Given the description of an element on the screen output the (x, y) to click on. 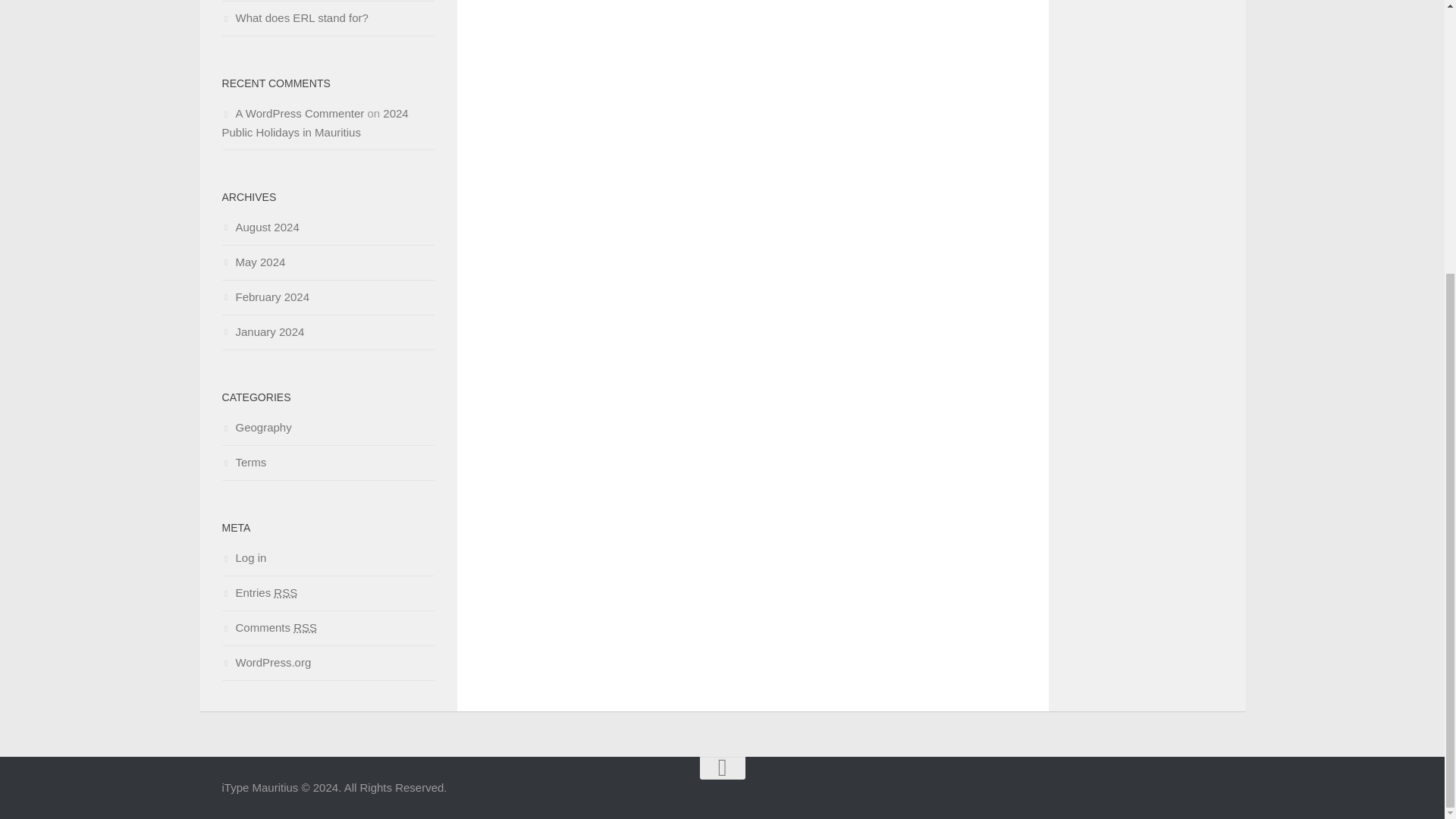
Terms (243, 461)
WordPress.org (266, 662)
May 2024 (253, 261)
Really Simple Syndication (285, 592)
August 2024 (259, 226)
Comments RSS (269, 626)
What does ERL stand for? (294, 17)
2024 Public Holidays in Mauritius (314, 122)
Entries RSS (259, 592)
